Given the description of an element on the screen output the (x, y) to click on. 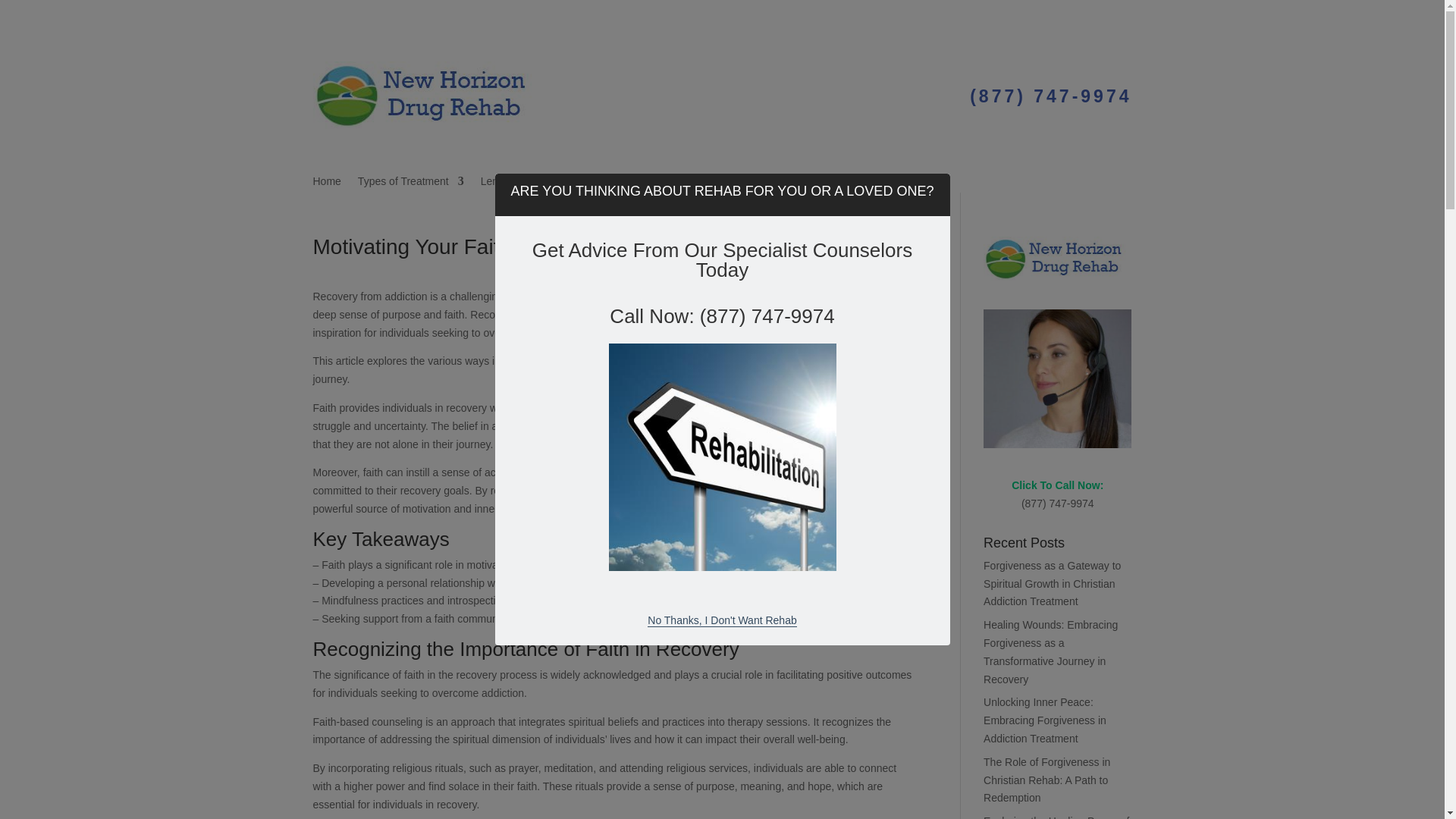
Dual Diagnosis Treatment (605, 184)
Length (504, 184)
logo (426, 94)
News (767, 184)
Home (326, 184)
Types of Treatment (411, 184)
Drug Detox (711, 184)
